Given the description of an element on the screen output the (x, y) to click on. 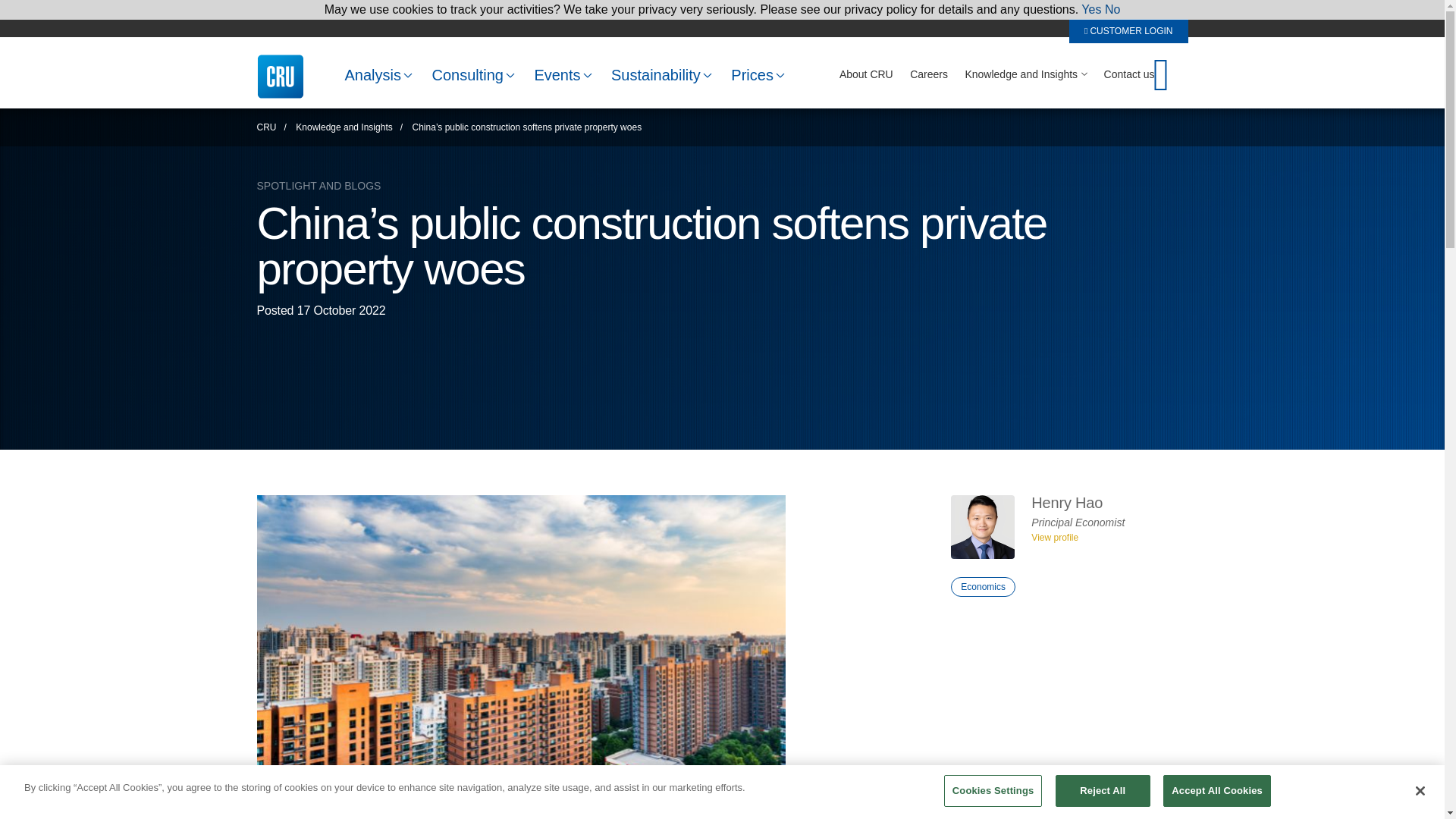
Analysis (376, 74)
CUSTOMER LOGIN (1128, 30)
